Given the description of an element on the screen output the (x, y) to click on. 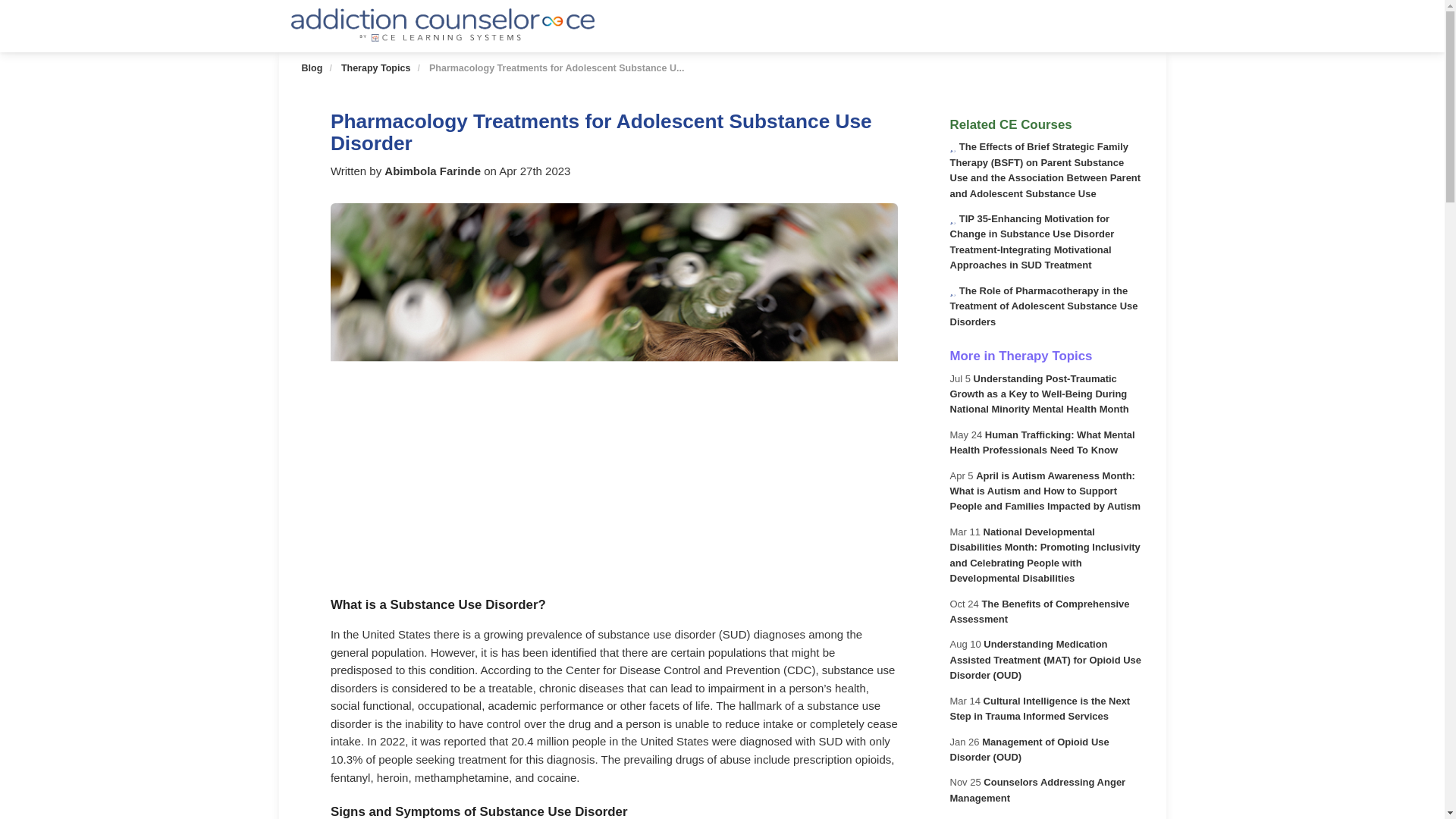
Blog (312, 68)
Counselors Addressing Anger Management (1037, 789)
The Benefits of Comprehensive Assessment (1039, 611)
Therapy Topics (375, 68)
Abimbola Farinde (433, 170)
